Given the description of an element on the screen output the (x, y) to click on. 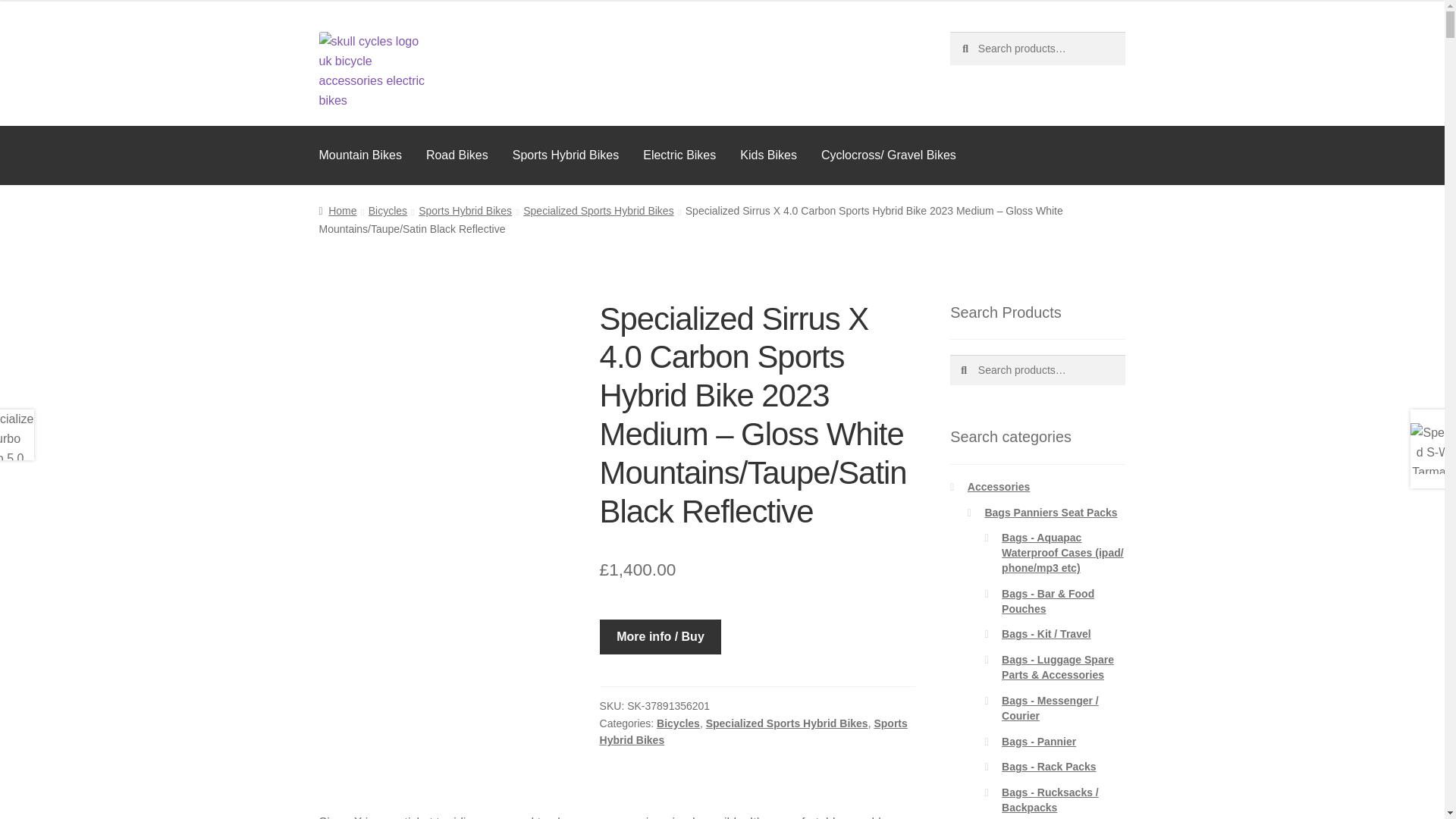
Bicycles (387, 210)
Bicycles (678, 723)
Sports Hybrid Bikes (565, 155)
Kids Bikes (768, 155)
Sports Hybrid Bikes (753, 731)
Electric Bikes (679, 155)
Specialized Sports Hybrid Bikes (786, 723)
Mountain Bikes (360, 155)
Specialized Sports Hybrid Bikes (597, 210)
Sports Hybrid Bikes (465, 210)
Home (337, 210)
Road Bikes (456, 155)
